Given the description of an element on the screen output the (x, y) to click on. 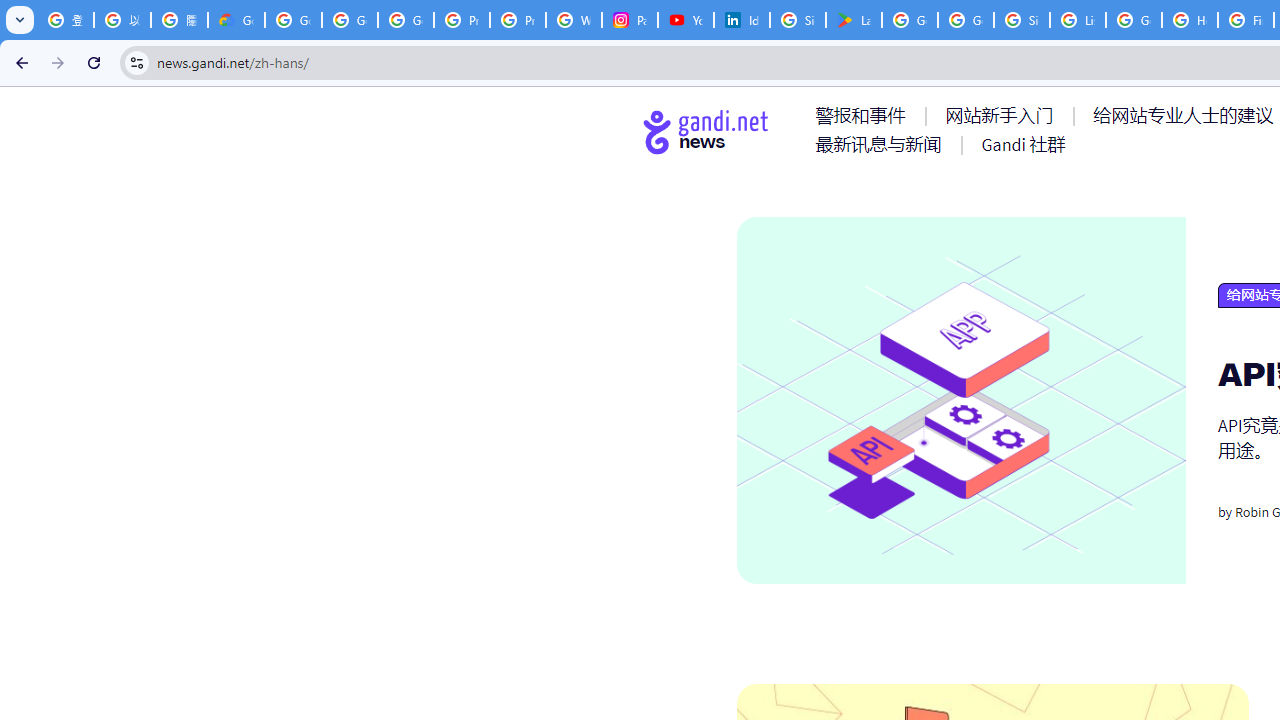
How do I create a new Google Account? - Google Account Help (1190, 20)
AutomationID: menu-item-77766 (882, 143)
Identity verification via Persona | LinkedIn Help (742, 20)
Privacy Help Center - Policies Help (518, 20)
Google Workspace - Specific Terms (966, 20)
Sign in - Google Accounts (1021, 20)
Go to home (706, 131)
